Given the description of an element on the screen output the (x, y) to click on. 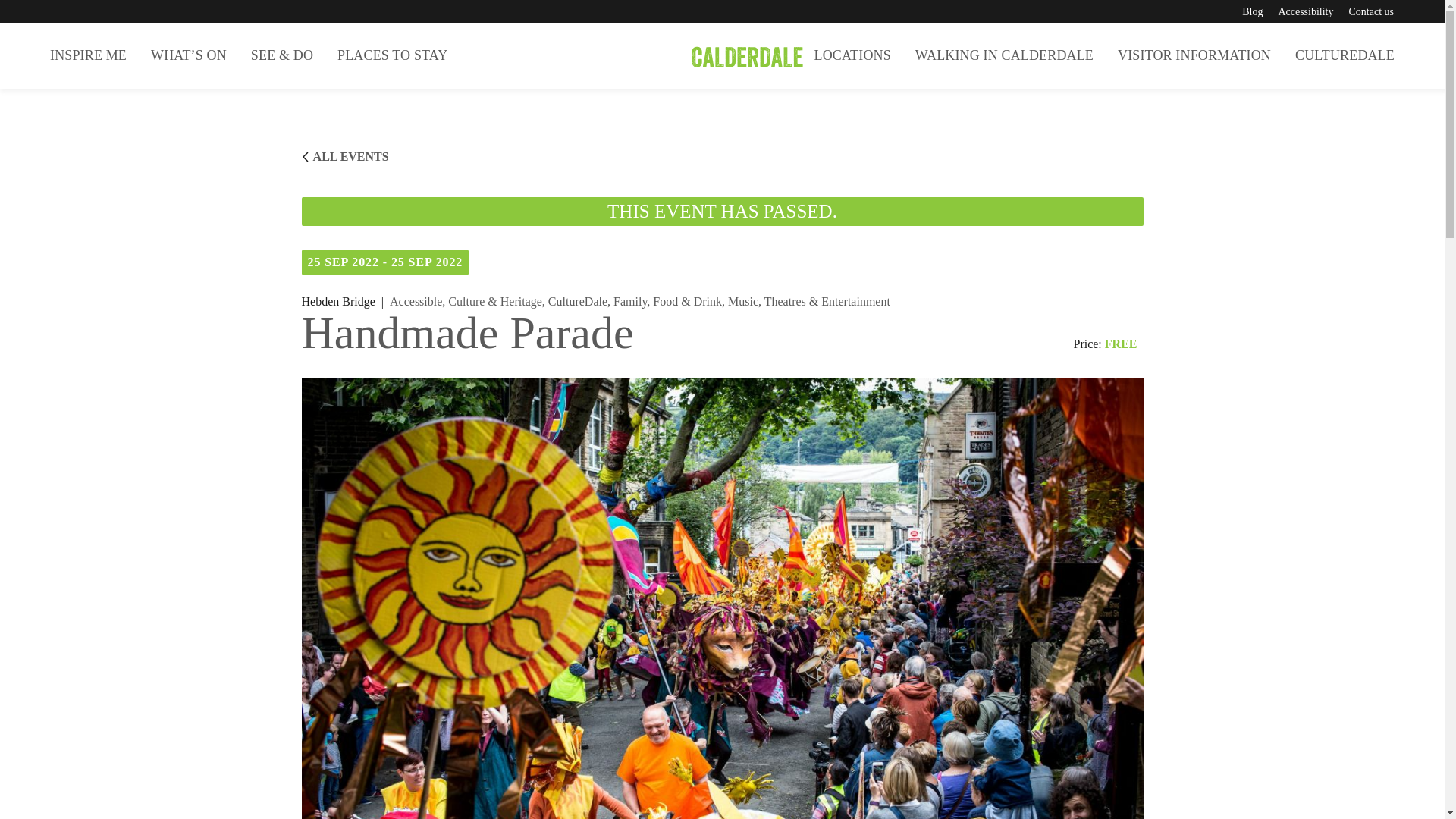
PLACES TO STAY (392, 55)
Inspire me (87, 55)
Accessibility (1305, 11)
What's on (188, 55)
Visit Calderdale (722, 55)
Blog (1251, 11)
Contact us (1370, 11)
INSPIRE ME (87, 55)
